Given the description of an element on the screen output the (x, y) to click on. 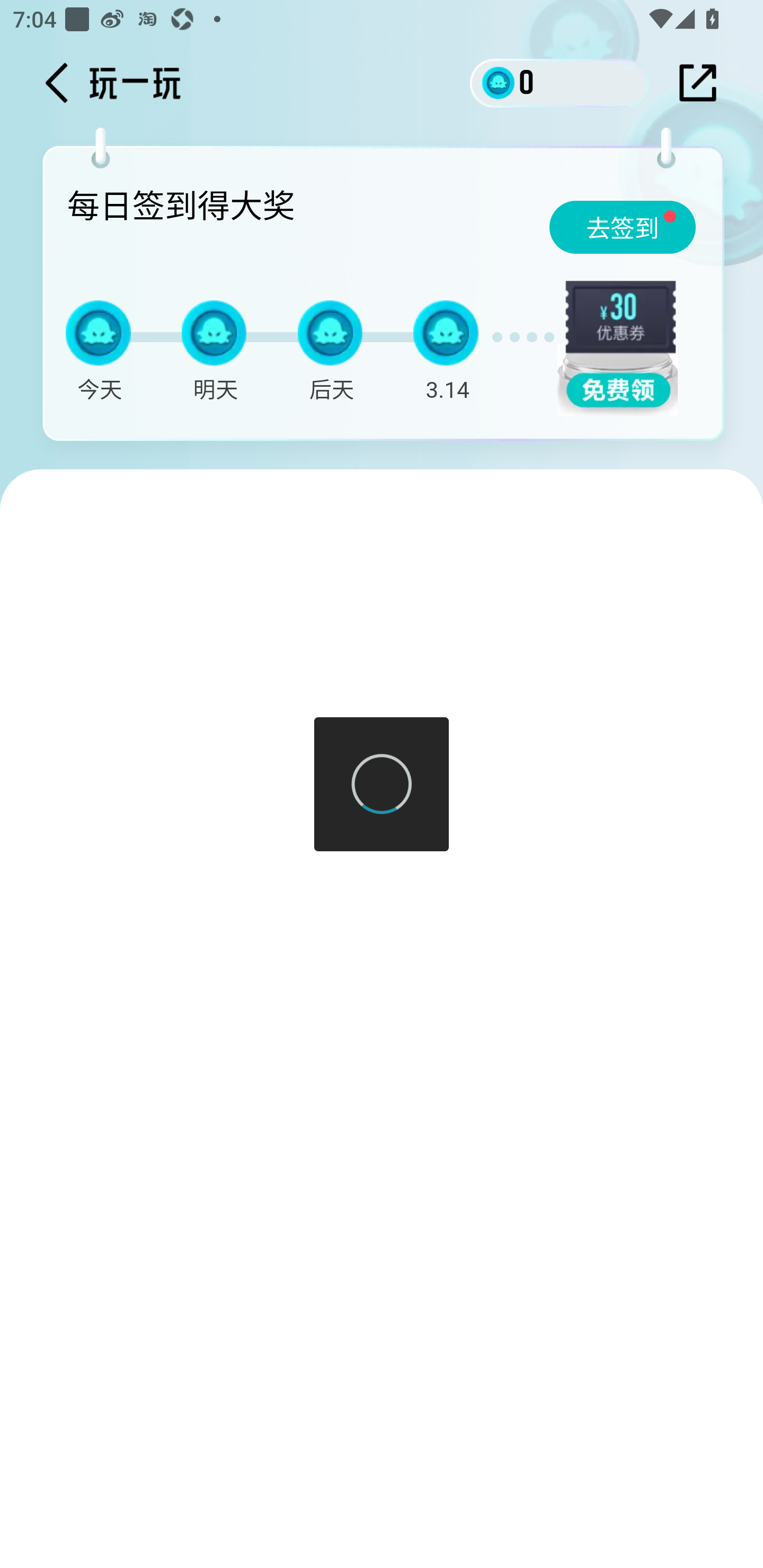
0 (559, 82)
每日签到得大奖 去签到 今天 明天 后天 3.14 (387, 298)
